Given the description of an element on the screen output the (x, y) to click on. 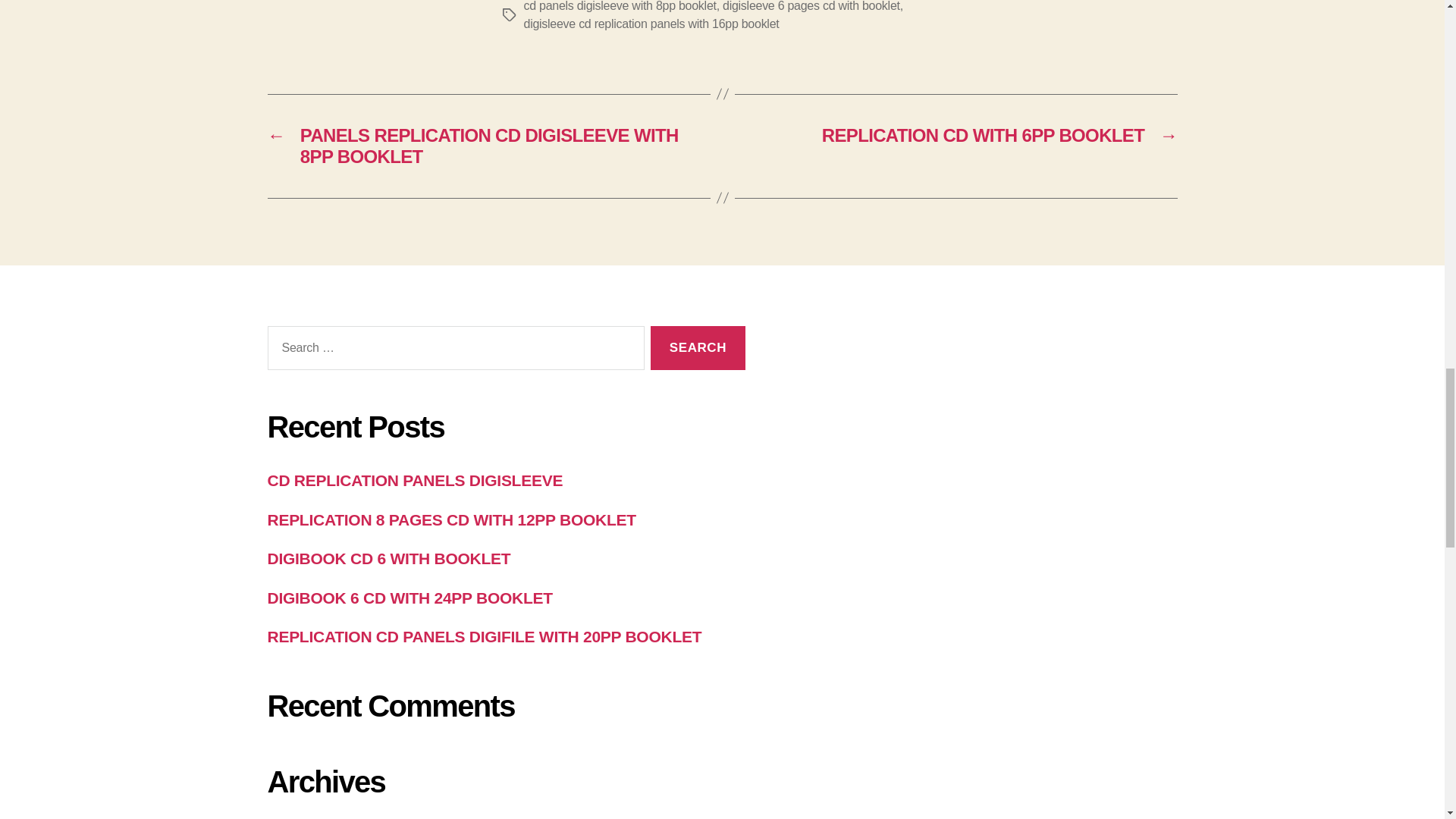
digisleeve 6 pages cd with booklet (810, 6)
REPLICATION CD PANELS DIGIFILE WITH 20PP BOOKLET (483, 636)
REPLICATION 8 PAGES CD WITH 12PP BOOKLET (450, 519)
Search (697, 348)
DIGIBOOK CD 6 WITH BOOKLET (388, 558)
Search (697, 348)
DIGIBOOK 6 CD WITH 24PP BOOKLET (408, 597)
CD REPLICATION PANELS DIGISLEEVE (414, 479)
cd panels digisleeve with 8pp booklet (619, 6)
digisleeve cd replication panels with 16pp booklet (650, 23)
